Given the description of an element on the screen output the (x, y) to click on. 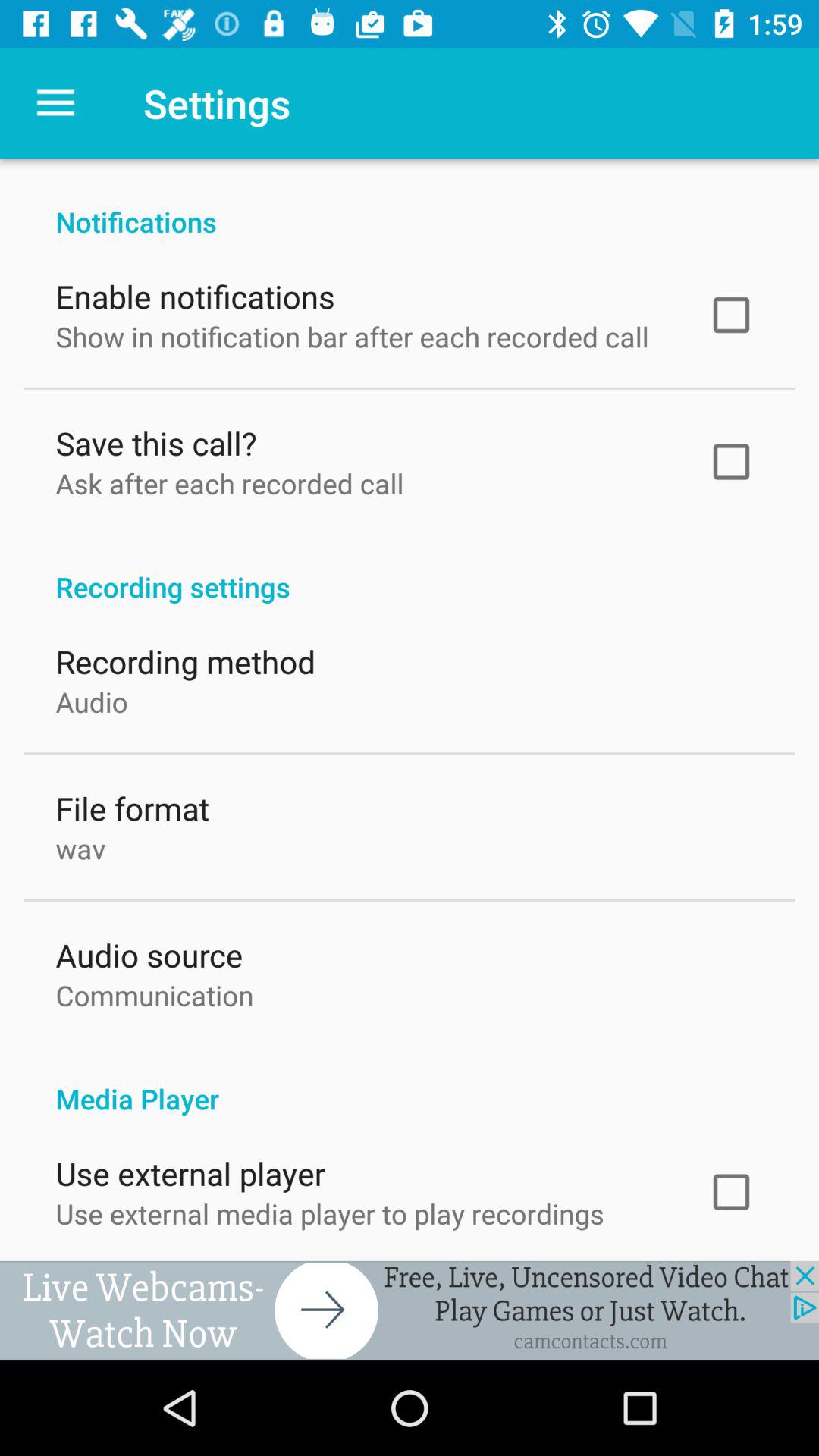
go to advertisement (409, 1310)
